Given the description of an element on the screen output the (x, y) to click on. 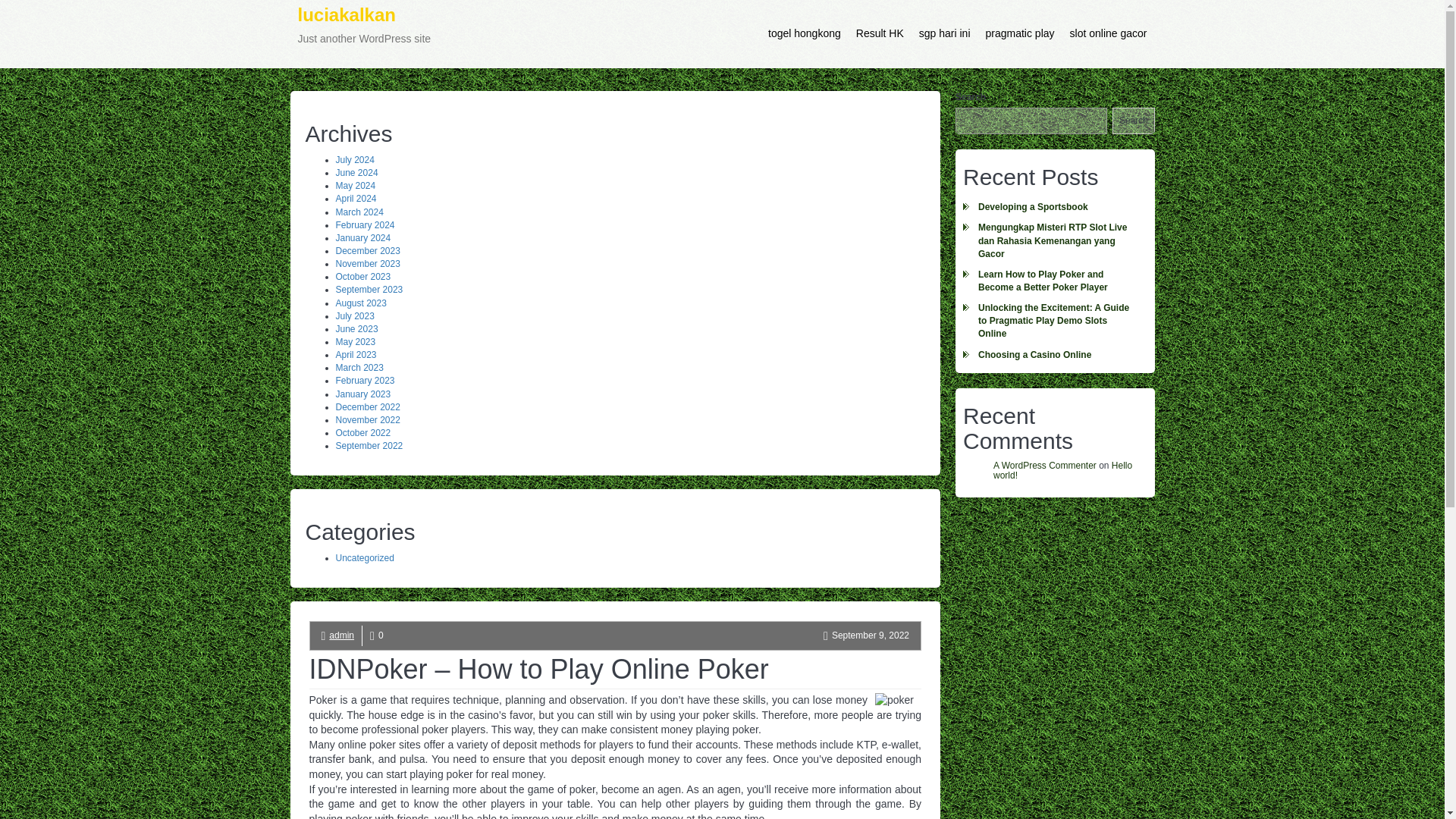
Result HK (879, 33)
September 2022 (368, 445)
slot online gacor (1108, 33)
February 2023 (364, 380)
April 2023 (354, 354)
togel hongkong (804, 33)
October 2023 (362, 276)
June 2023 (355, 328)
November 2023 (366, 263)
April 2024 (354, 198)
Developing a Sportsbook (1054, 207)
togel hongkong (804, 33)
January 2023 (363, 33)
February 2024 (362, 394)
